Given the description of an element on the screen output the (x, y) to click on. 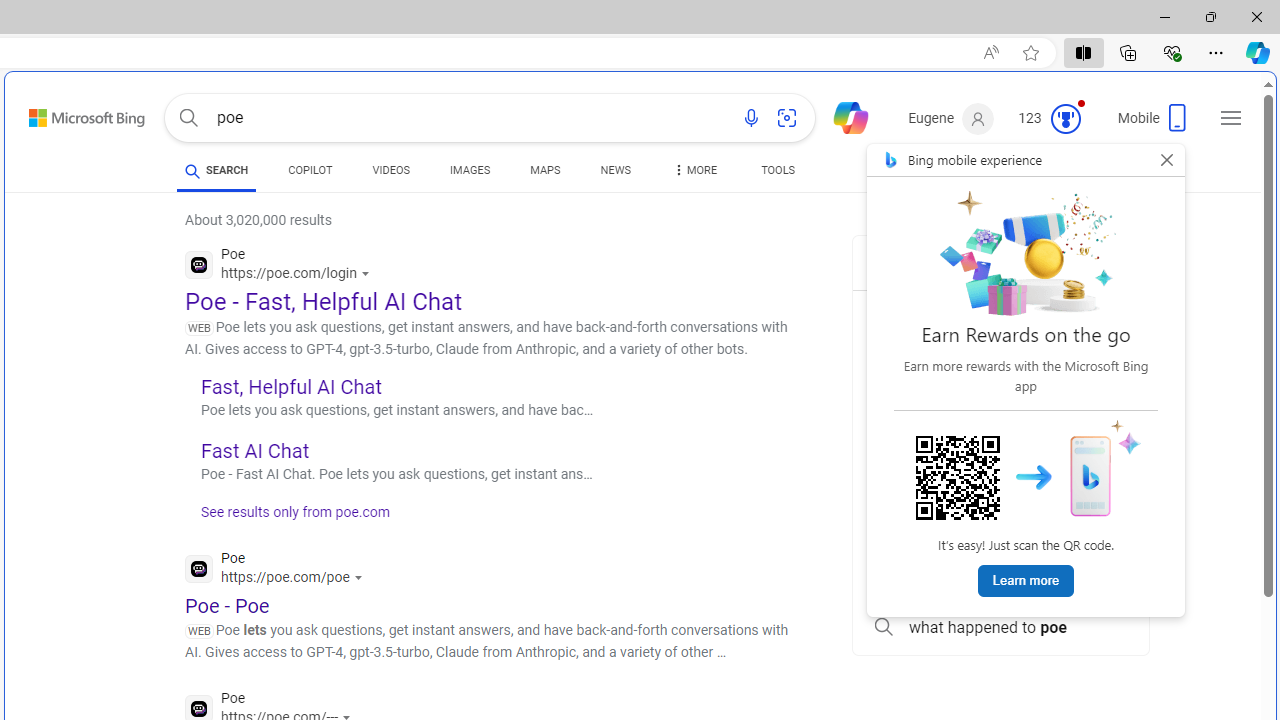
NEWS (614, 170)
TOOLS (777, 170)
poe ++ standard (1000, 448)
